Given the description of an element on the screen output the (x, y) to click on. 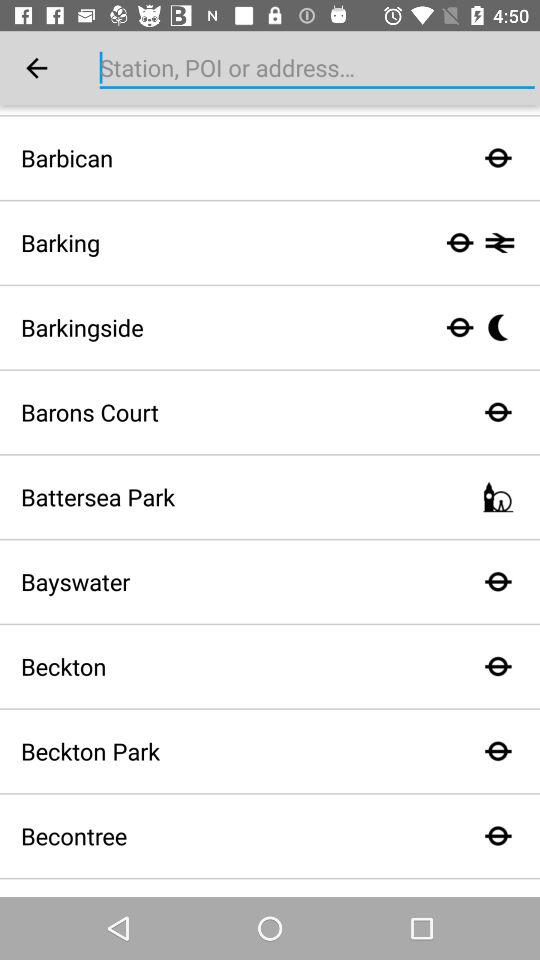
open the icon above barbican item (36, 68)
